Given the description of an element on the screen output the (x, y) to click on. 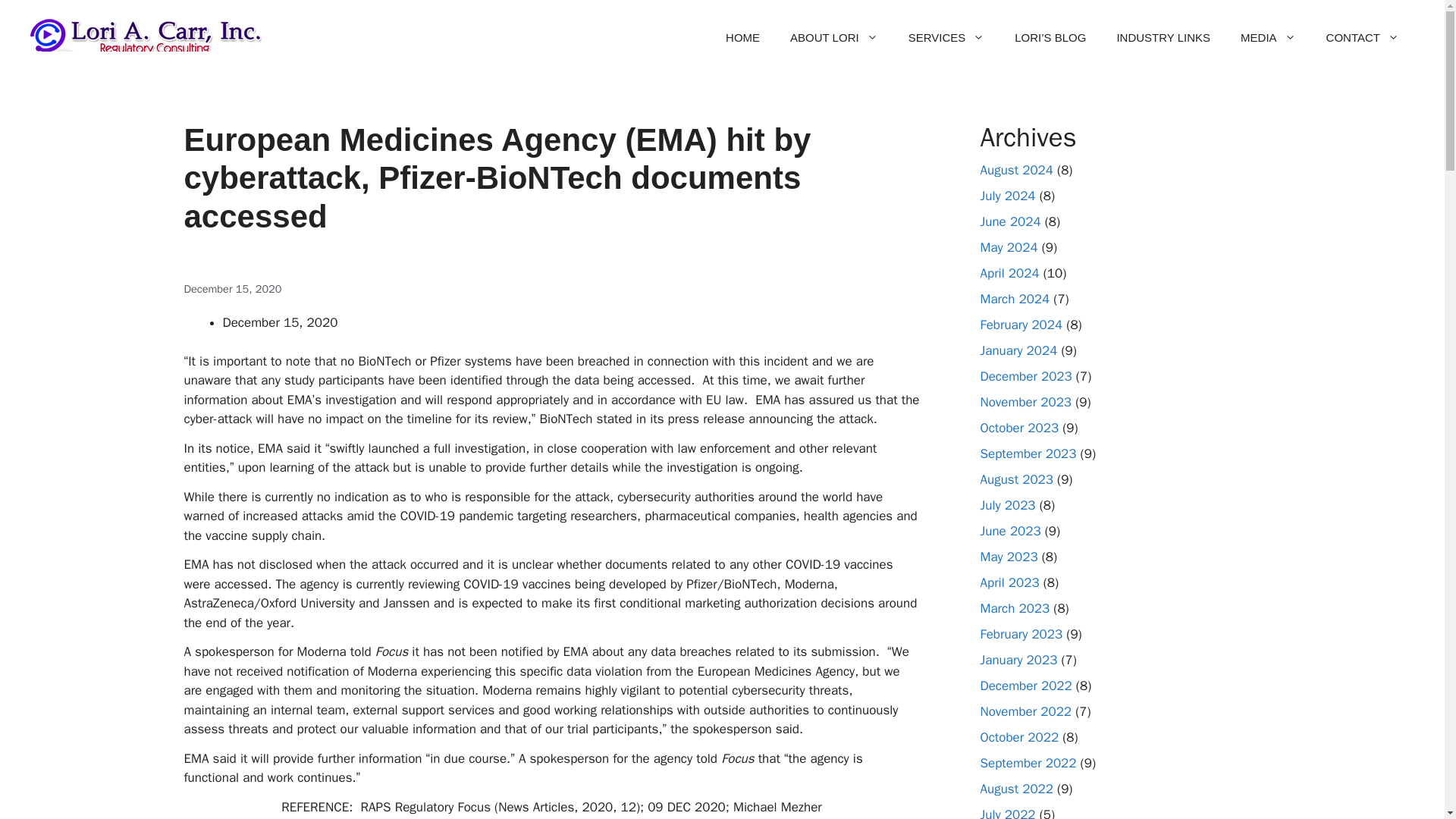
CONTACT (1362, 37)
INDUSTRY LINKS (1162, 37)
SERVICES (946, 37)
ABOUT LORI (833, 37)
HOME (742, 37)
MEDIA (1268, 37)
